Given the description of an element on the screen output the (x, y) to click on. 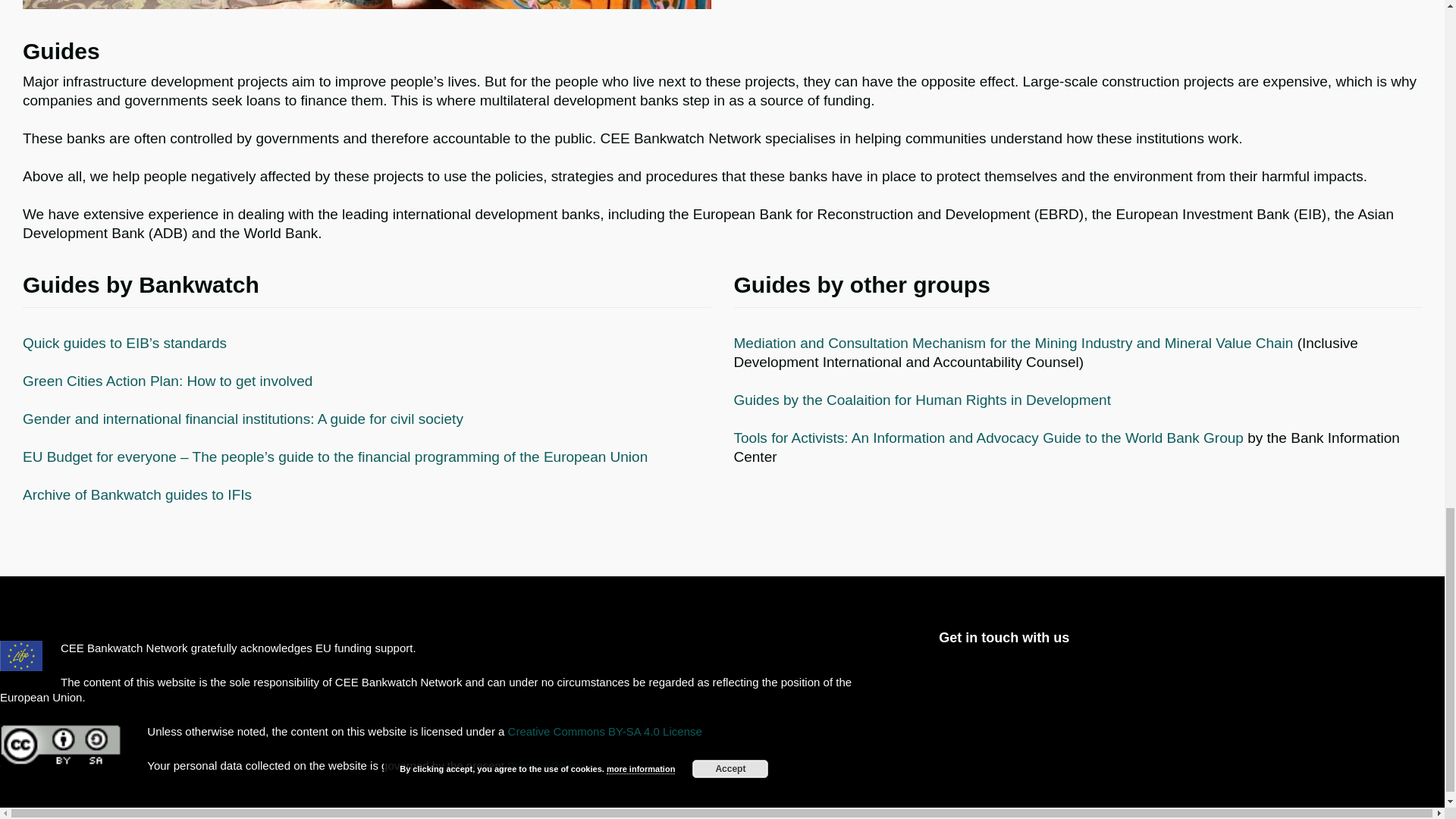
content (367, 4)
